Given the description of an element on the screen output the (x, y) to click on. 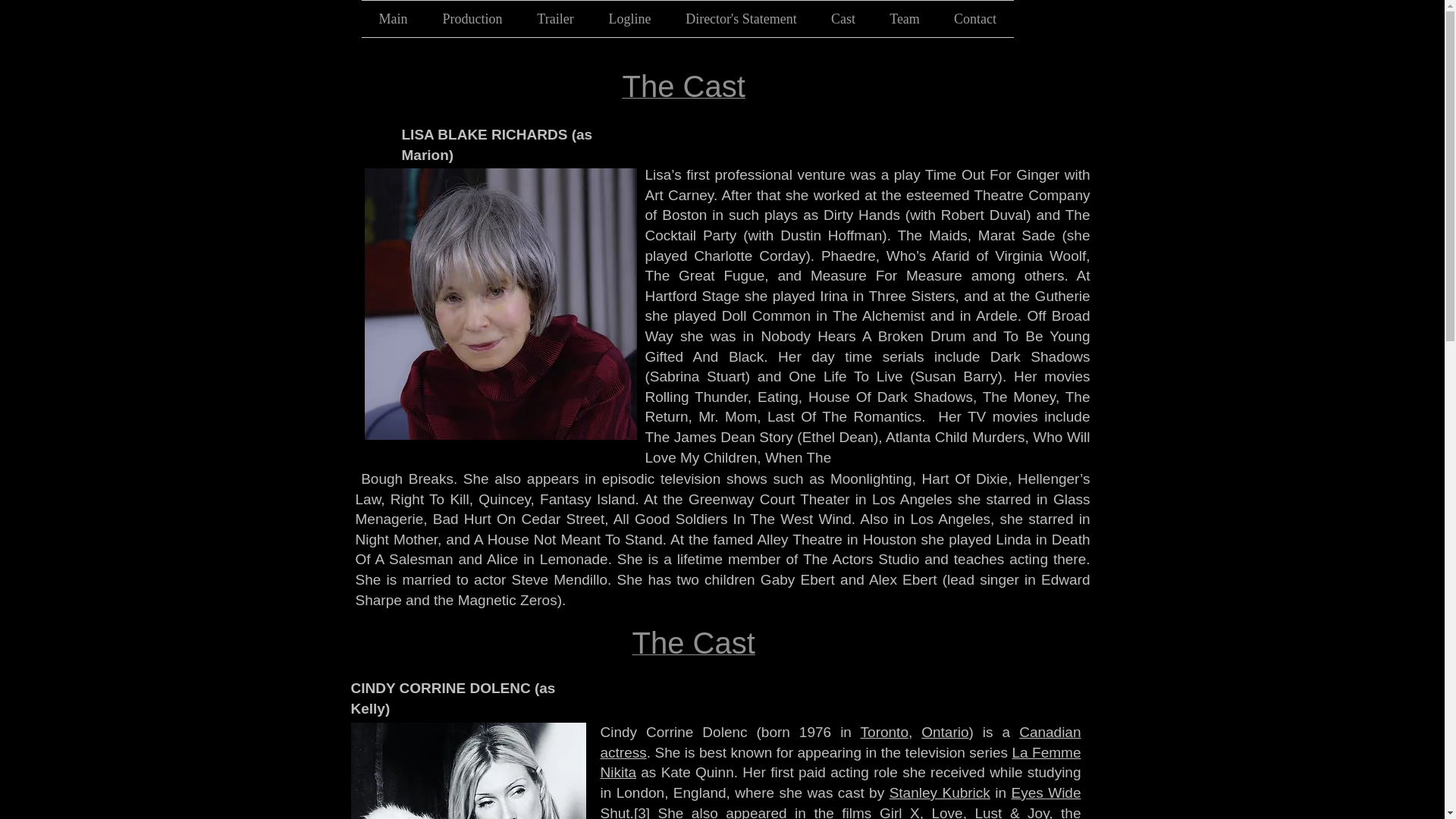
Ontario (944, 731)
Girl X (899, 812)
Contact (975, 18)
Cast (842, 18)
actress (622, 752)
Trailer (555, 18)
Cindy 3.jpg (467, 770)
Logline (629, 18)
Main (393, 18)
Lisa.jpg (500, 303)
Director's Statement (740, 18)
Stanley Kubrick (939, 792)
Toronto (884, 731)
Canadian (1049, 731)
La Femme Nikita (840, 762)
